Given the description of an element on the screen output the (x, y) to click on. 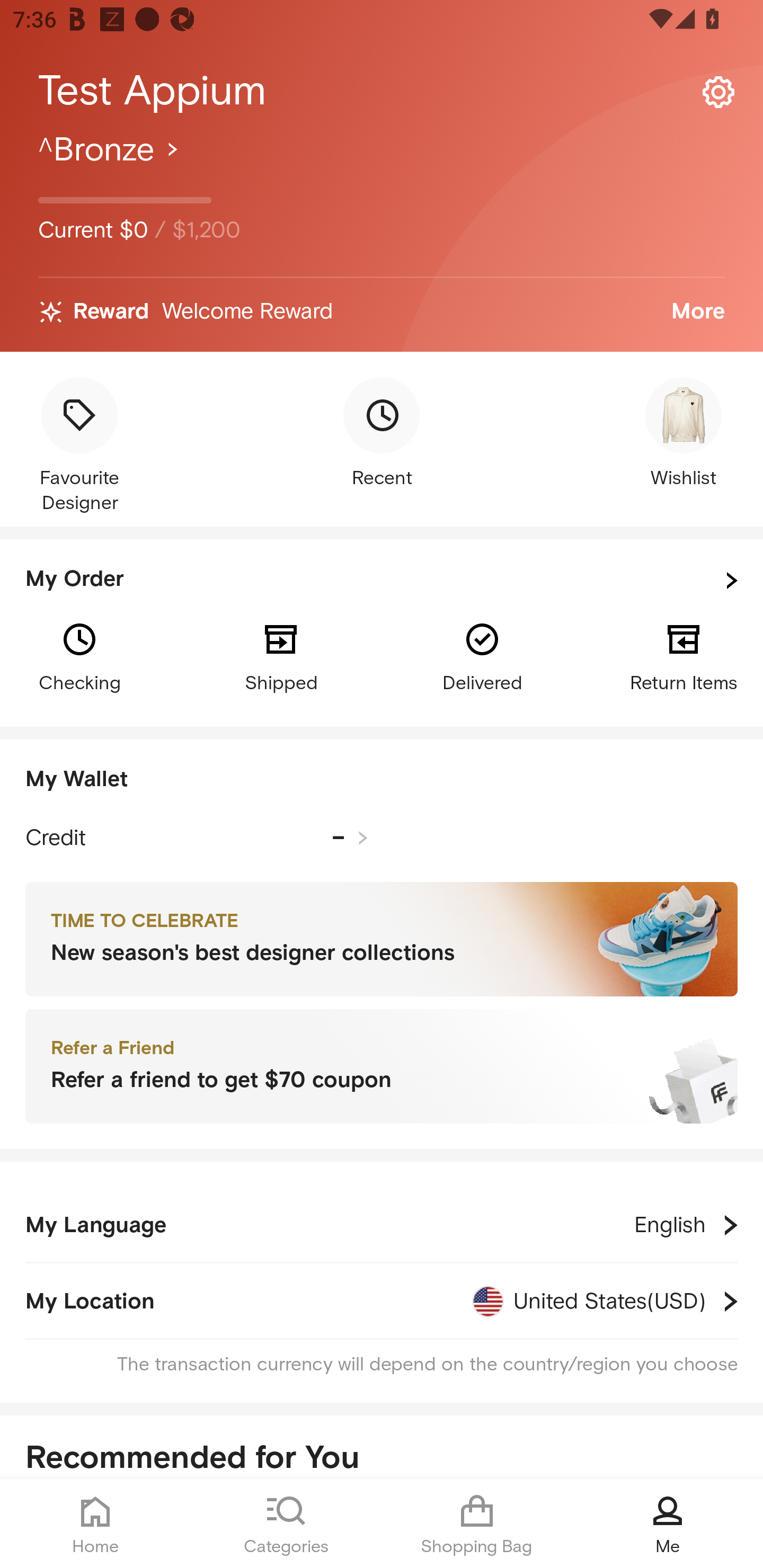
Test Appium (381, 91)
Current $0 / $1,200 Reward Welcome Reward More (381, 240)
Reward Welcome Reward More (381, 311)
Favourite Designer (79, 446)
Recent (381, 433)
Wishlist (683, 433)
My Order (381, 580)
Checking (79, 656)
Shipped (280, 656)
Delivered (482, 656)
Return Items (683, 656)
My Wallet (381, 779)
Credit - (196, 837)
Refer a Friend Refer a friend to get $70 coupon (381, 1066)
My Language English (381, 1224)
My Location United States(USD) (381, 1301)
Home (95, 1523)
Categories (285, 1523)
Shopping Bag (476, 1523)
